Given the description of an element on the screen output the (x, y) to click on. 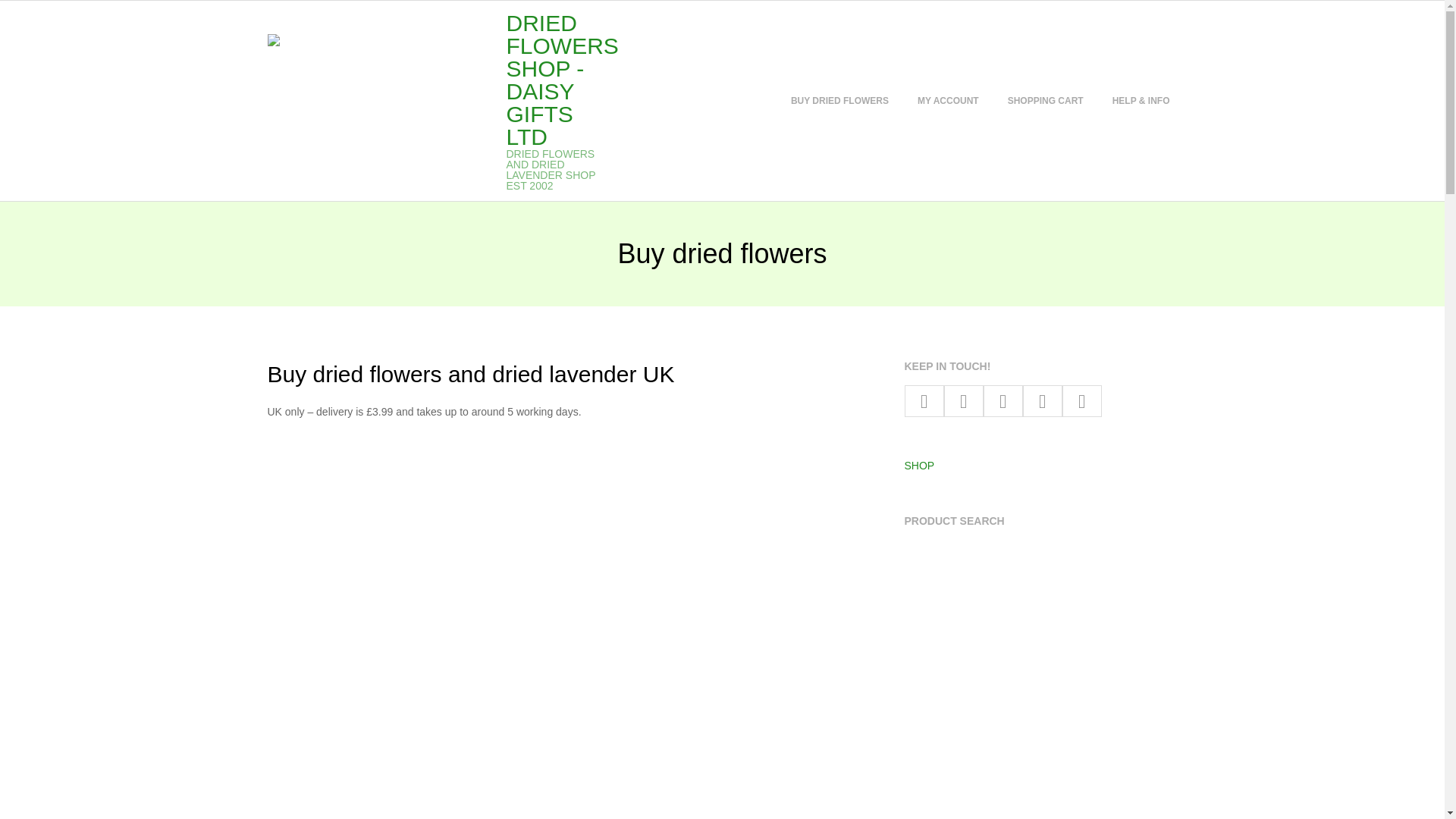
BUY DRIED FLOWERS (839, 100)
SHOPPING CART (1045, 100)
MY ACCOUNT (948, 100)
